Given the description of an element on the screen output the (x, y) to click on. 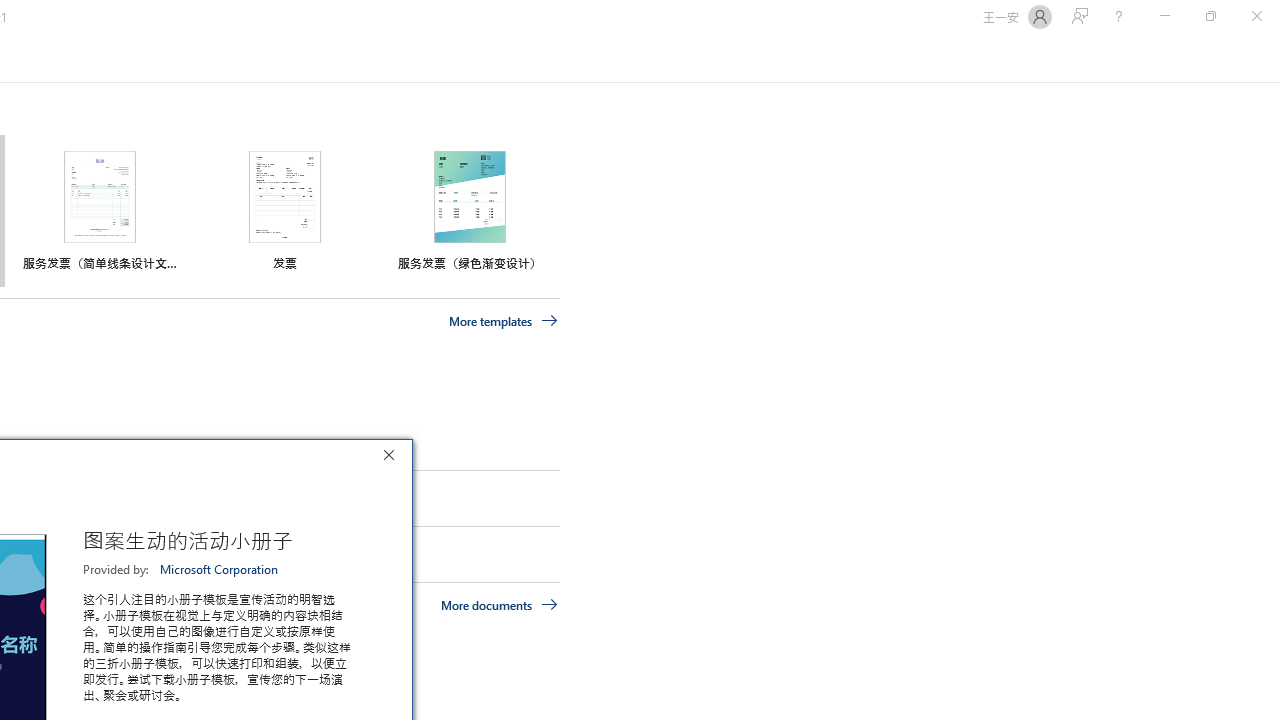
More documents (499, 604)
Microsoft Corporation (220, 569)
More templates (503, 321)
